Given the description of an element on the screen output the (x, y) to click on. 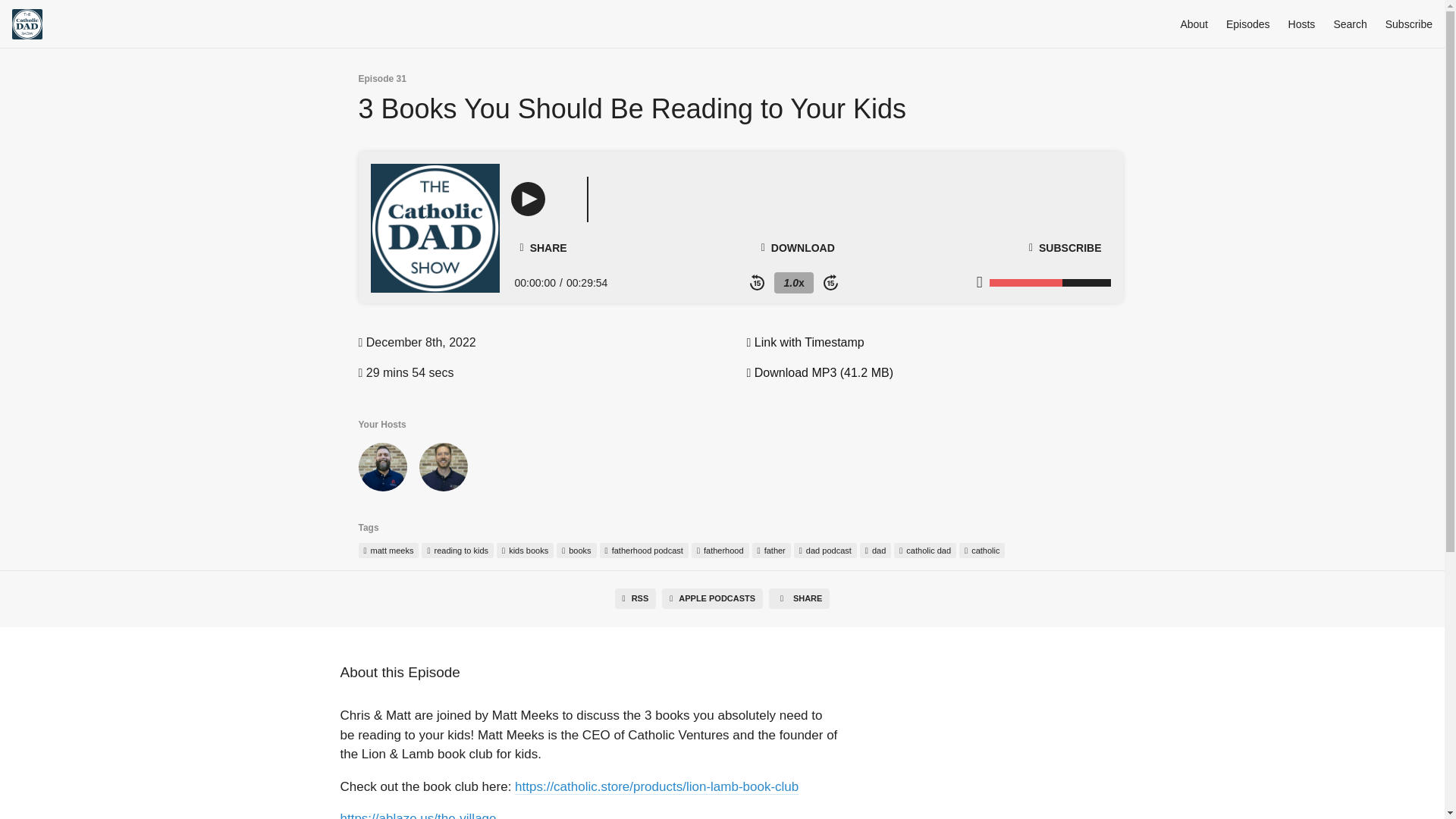
RSS (635, 598)
About (1193, 24)
fatherhood podcast (643, 549)
dad podcast (825, 549)
reading to kids (457, 549)
DOWNLOAD (798, 247)
Search (1350, 24)
kids books (524, 549)
catholic dad (924, 549)
Hosts (1302, 24)
SUBSCRIBE (1065, 247)
catholic (981, 549)
Link with Timestamp (804, 341)
Matt Rice (382, 470)
SHARE (798, 598)
